Given the description of an element on the screen output the (x, y) to click on. 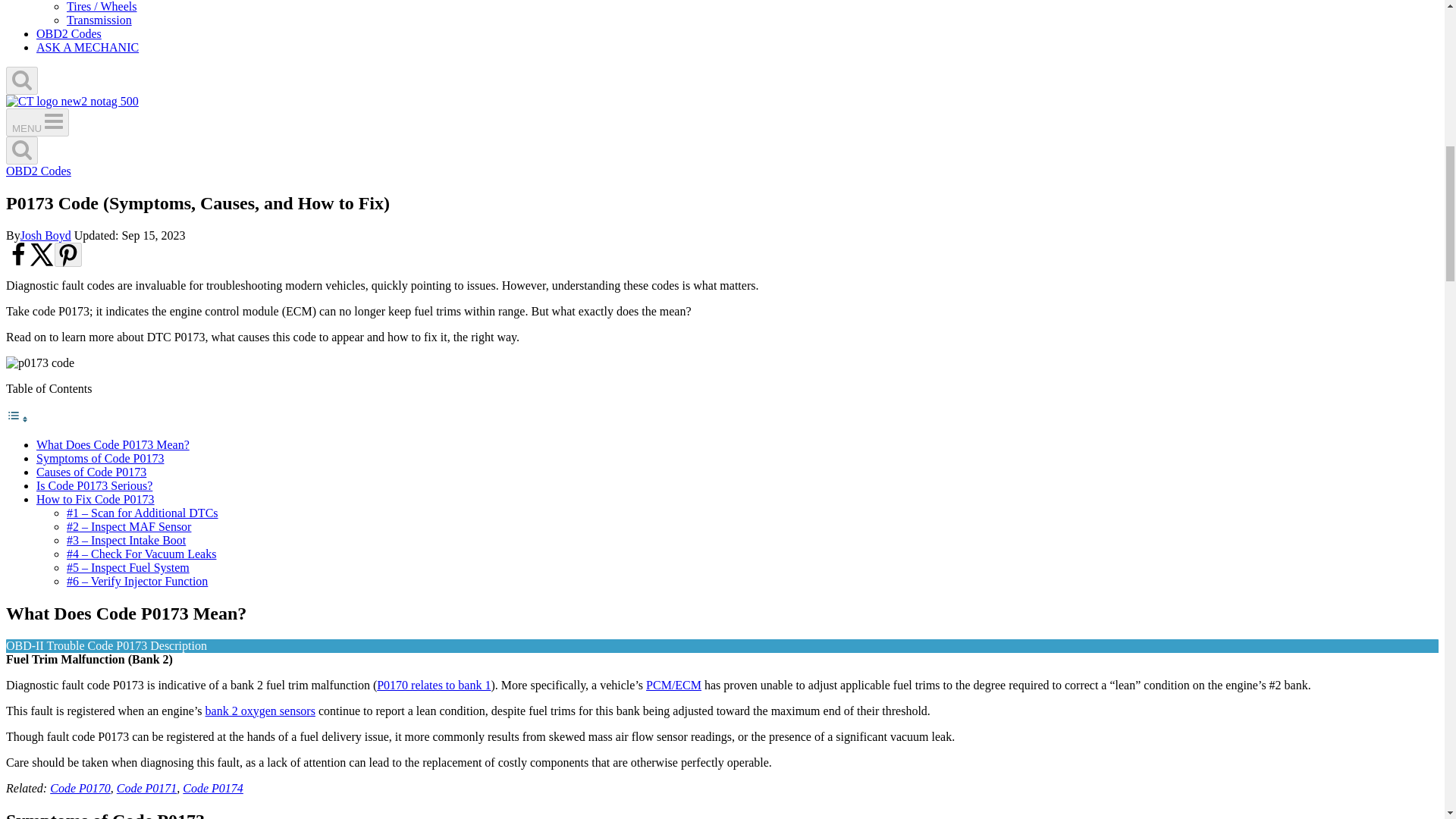
Toggle Menu (53, 120)
Causes of Code P0173 (91, 472)
What Does Code P0173 Mean? (112, 444)
Is Code P0173 Serious? (94, 485)
Save to Pinterest (68, 254)
Search (21, 79)
Share on Facebook (17, 263)
Share on X (42, 263)
Symptoms of Code P0173 (99, 458)
Search (21, 148)
How to Fix Code P0173 (95, 499)
